Given the description of an element on the screen output the (x, y) to click on. 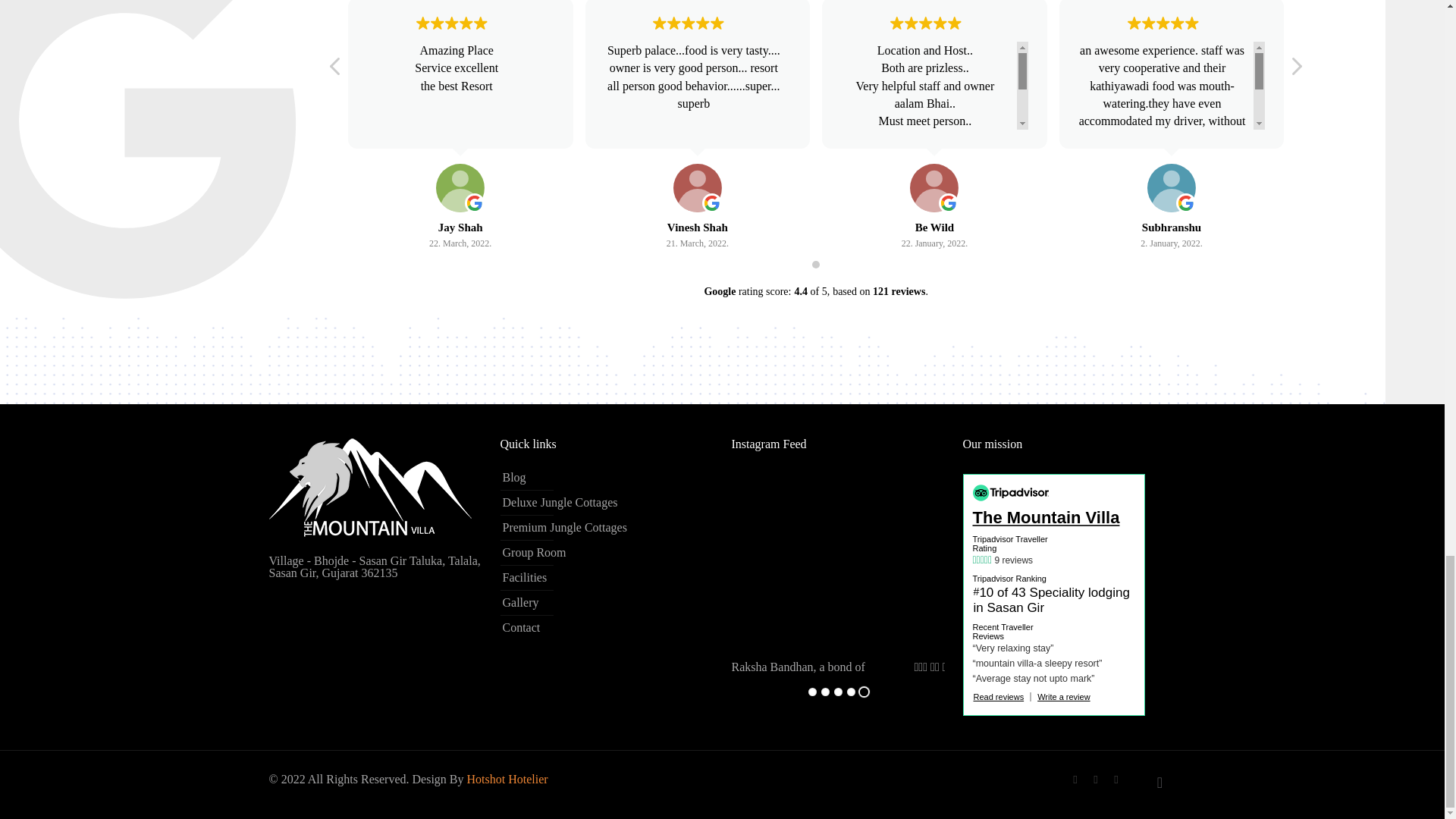
Instagram (1095, 779)
Facebook (1075, 779)
Blog (603, 478)
Tripadvisor (1116, 779)
